Given the description of an element on the screen output the (x, y) to click on. 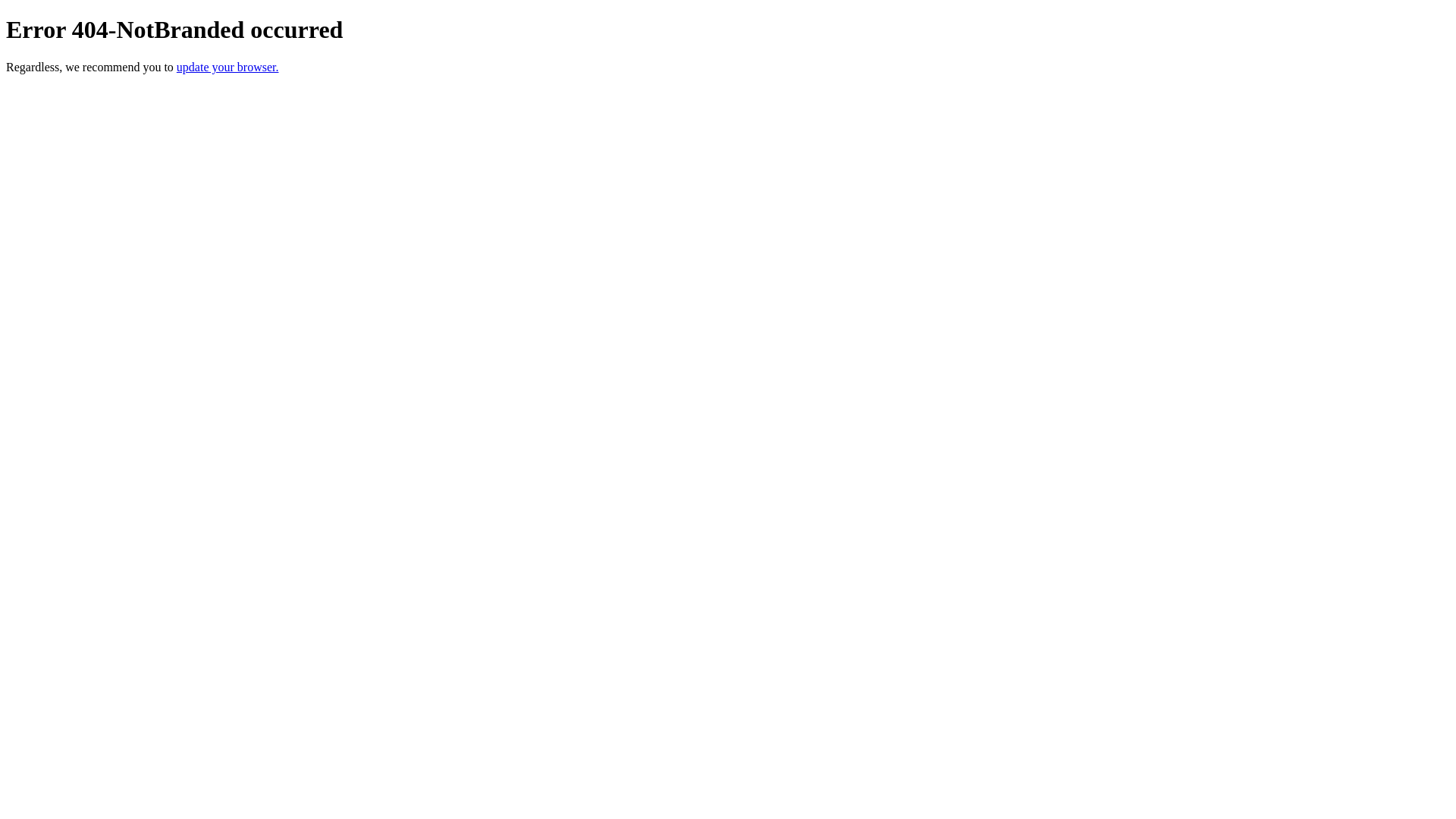
update your browser. Element type: text (227, 66)
